Given the description of an element on the screen output the (x, y) to click on. 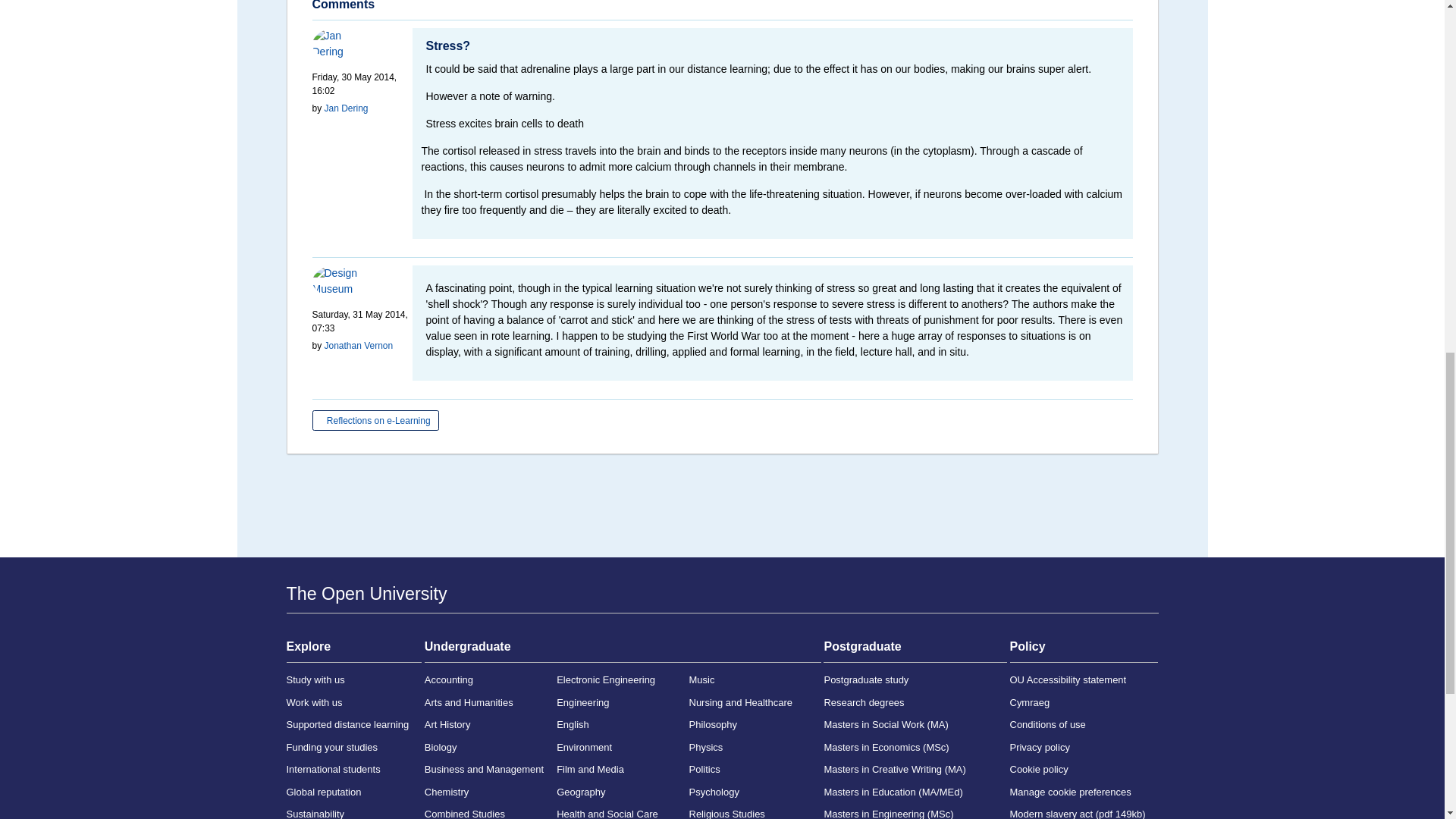
Return to Reflections on e-Learning (376, 420)
Jan Dering (337, 43)
Design Museum (337, 281)
